Given the description of an element on the screen output the (x, y) to click on. 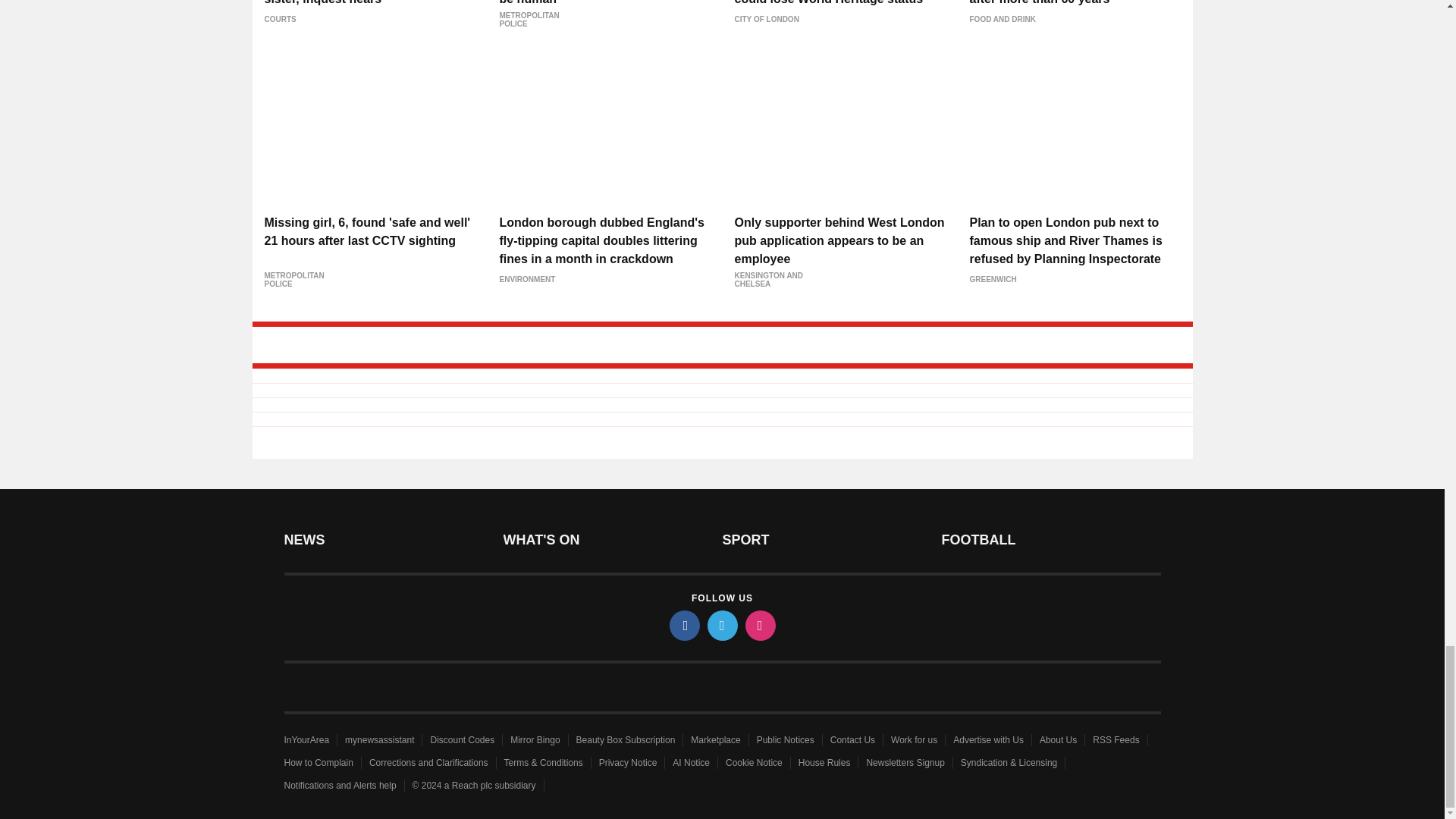
facebook (683, 625)
instagram (759, 625)
twitter (721, 625)
